Given the description of an element on the screen output the (x, y) to click on. 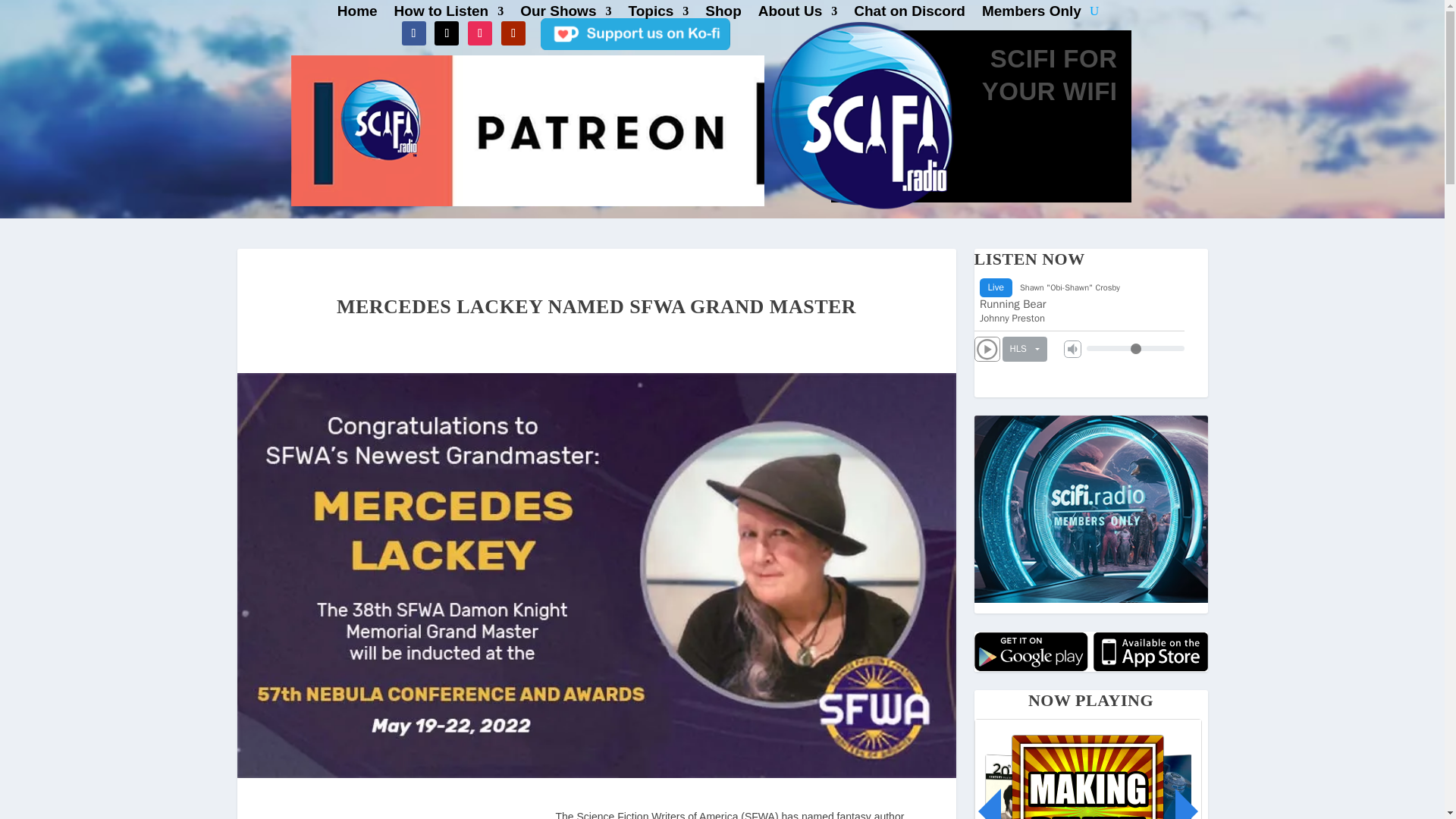
ko-fi-banner-300x51-1 (635, 33)
Shop (722, 13)
Our Shows (565, 13)
How to Listen (448, 13)
Follow on X (445, 33)
SCIFIRADIO patreon2 AVIF (527, 130)
Topics (657, 13)
Home (357, 13)
Follow on Instagram (479, 33)
Follow on Youtube (512, 33)
Follow on Facebook (413, 33)
scifiradio-256-AVIF (858, 111)
